Given the description of an element on the screen output the (x, y) to click on. 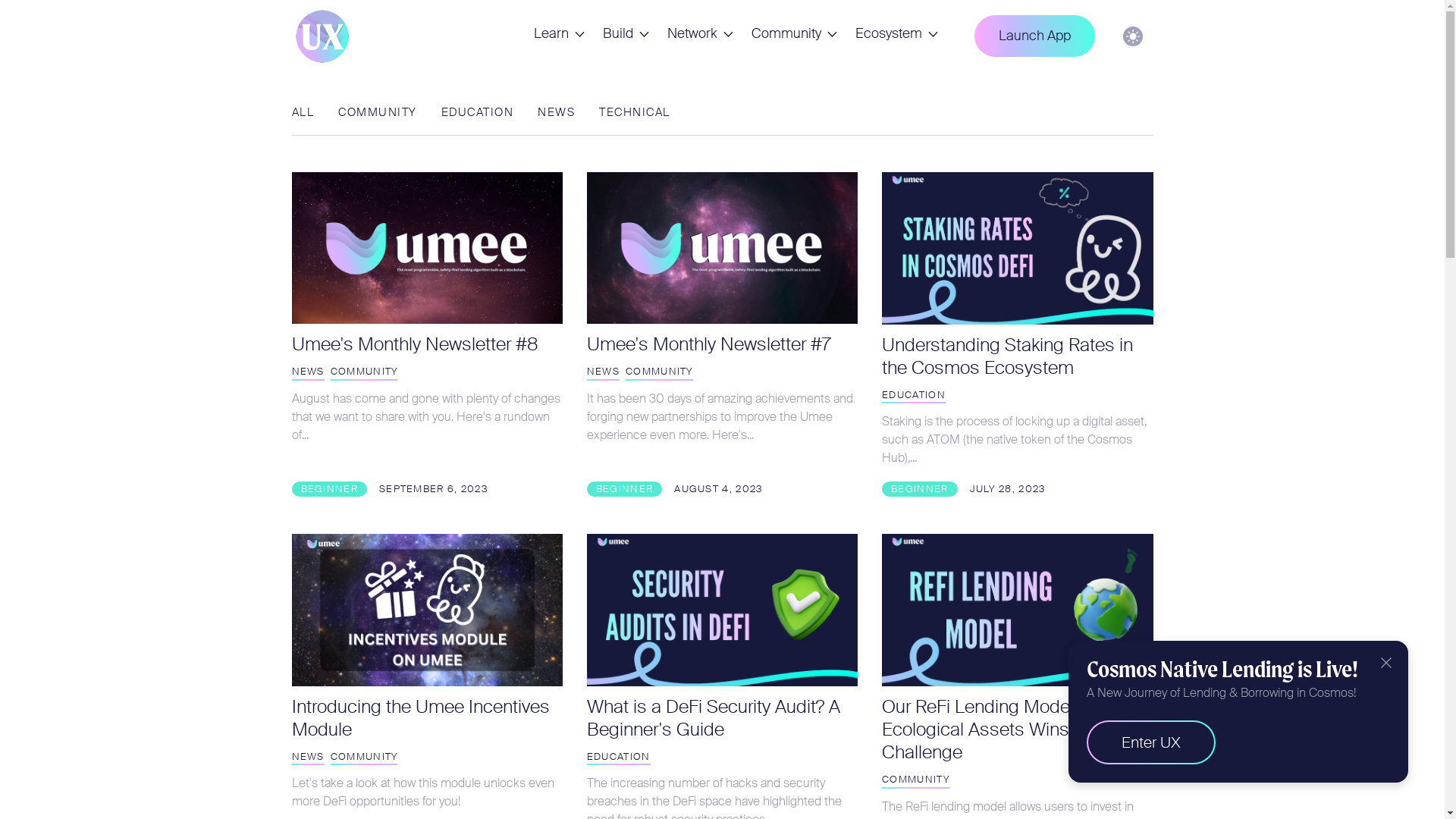
Enter UX Element type: text (1150, 742)
EDUCATION Element type: text (477, 113)
COMMUNITY Element type: text (377, 113)
Learn Element type: text (558, 35)
NEWS Element type: text (555, 113)
Launch App Element type: text (1033, 35)
TECHNICAL Element type: text (634, 113)
Network Element type: text (700, 35)
Ecosystem Element type: text (896, 35)
Build Element type: text (625, 35)
Community Element type: text (793, 35)
ALL Element type: text (302, 113)
